Given the description of an element on the screen output the (x, y) to click on. 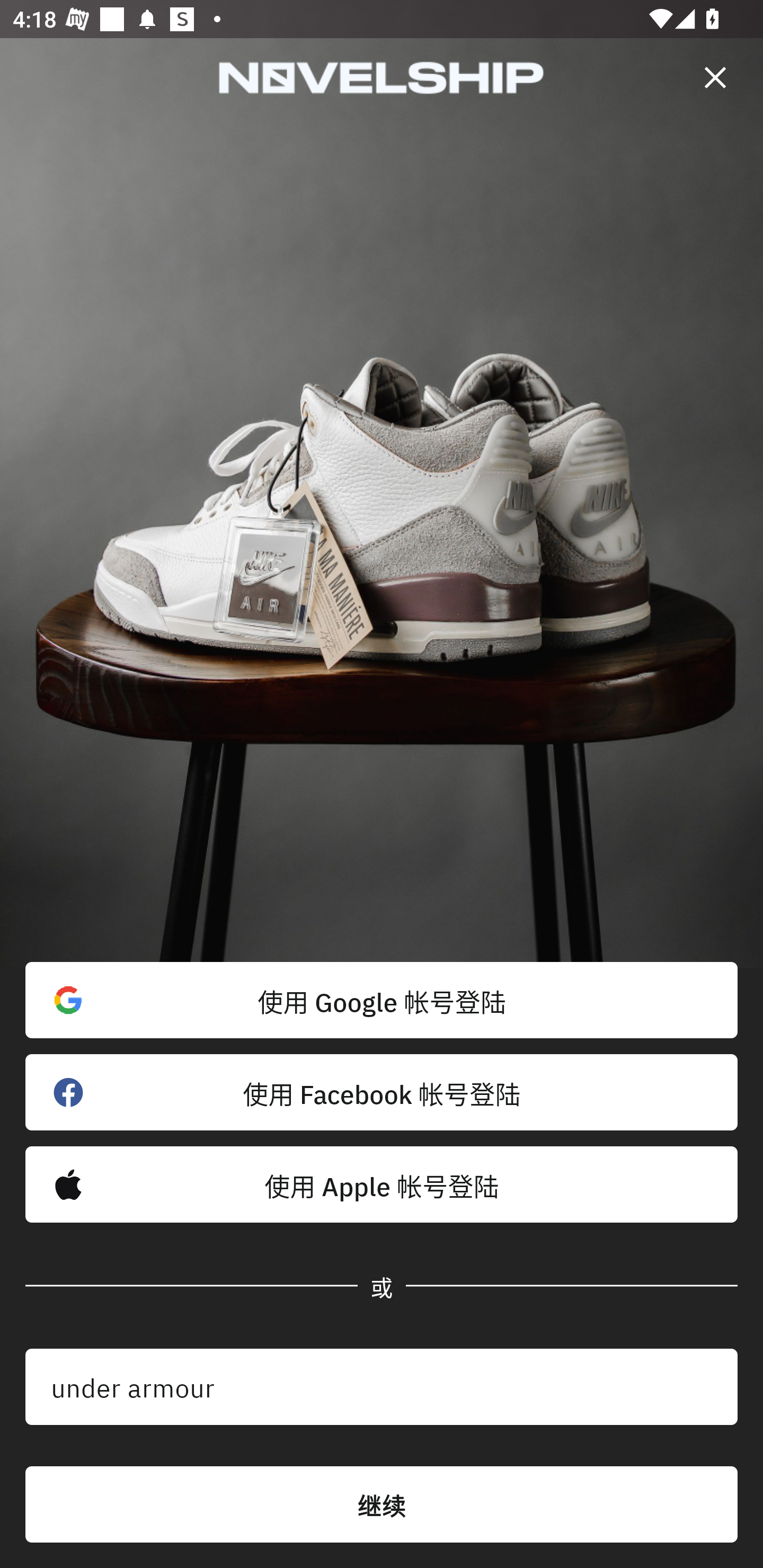
使用 Google 帐号登陆 (381, 1000)
使用 Facebook 帐号登陆 󰈌 (381, 1091)
 使用 Apple 帐号登陆 (381, 1184)
under armour (381, 1386)
继续 (381, 1504)
